Given the description of an element on the screen output the (x, y) to click on. 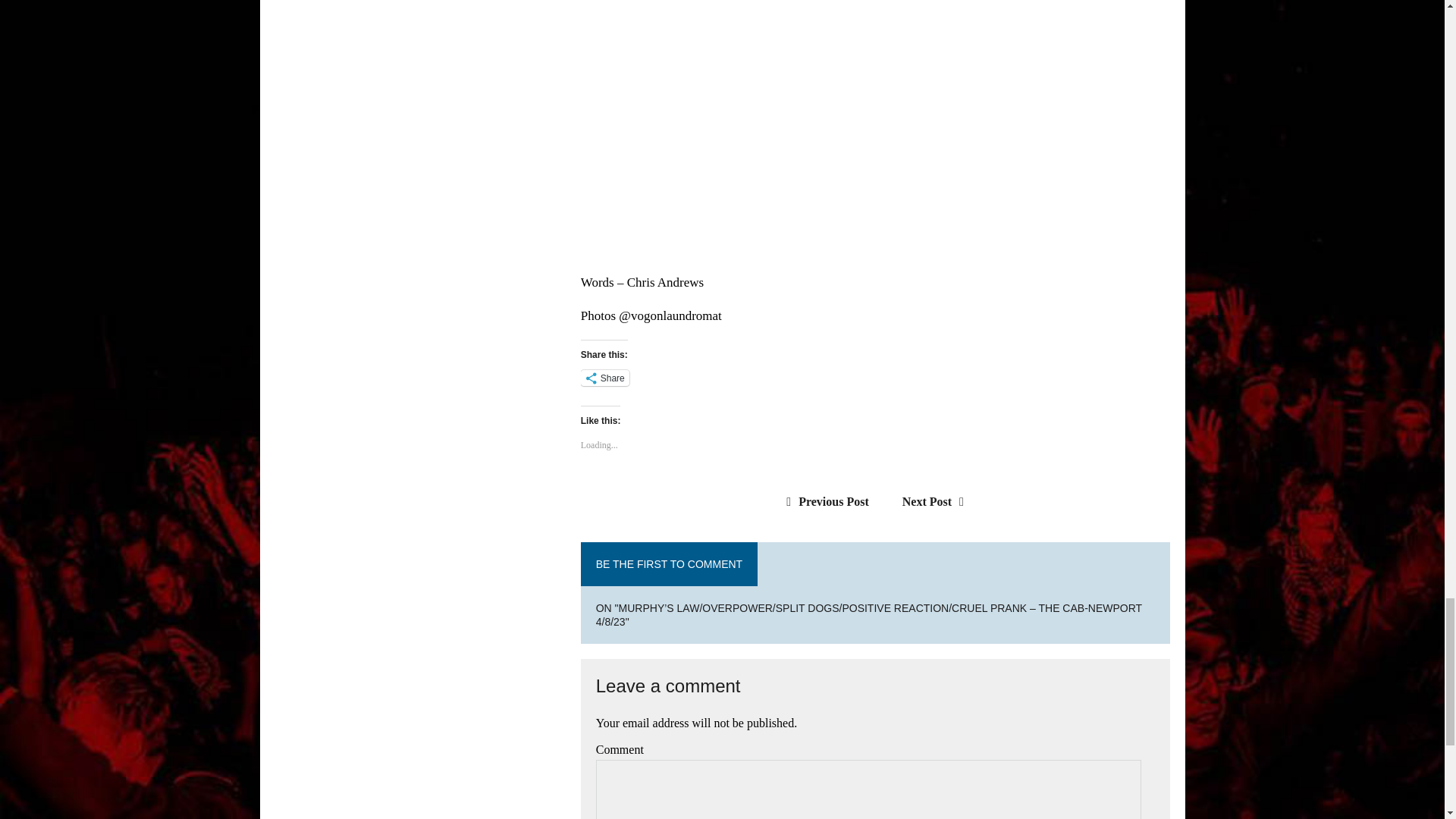
Share (604, 377)
